Given the description of an element on the screen output the (x, y) to click on. 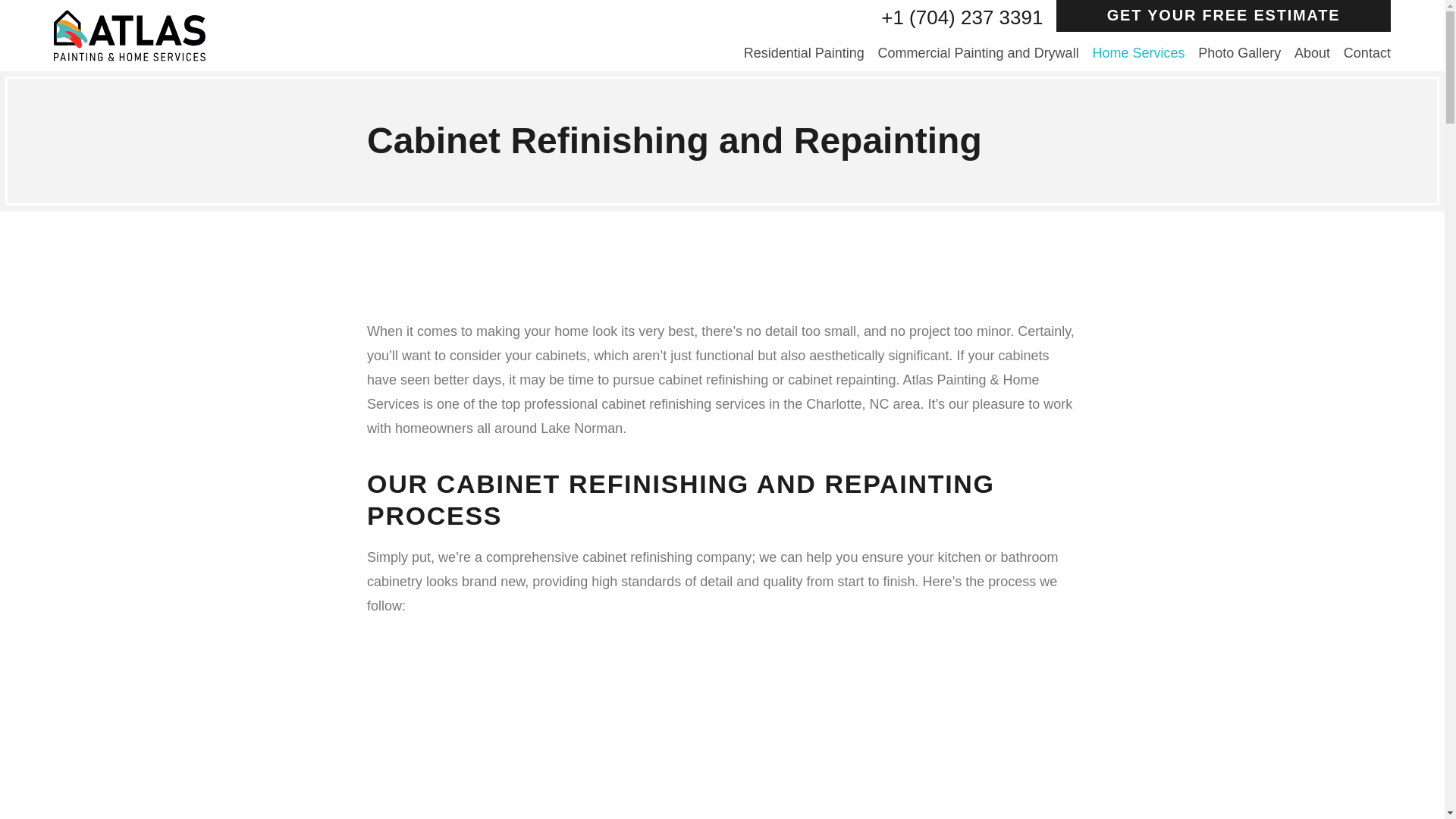
Home Services (1138, 53)
Commercial Painting and Drywall (977, 53)
Photo Gallery (1239, 53)
About (1312, 53)
GET YOUR FREE ESTIMATE (1223, 15)
Residential Painting (804, 53)
